Given the description of an element on the screen output the (x, y) to click on. 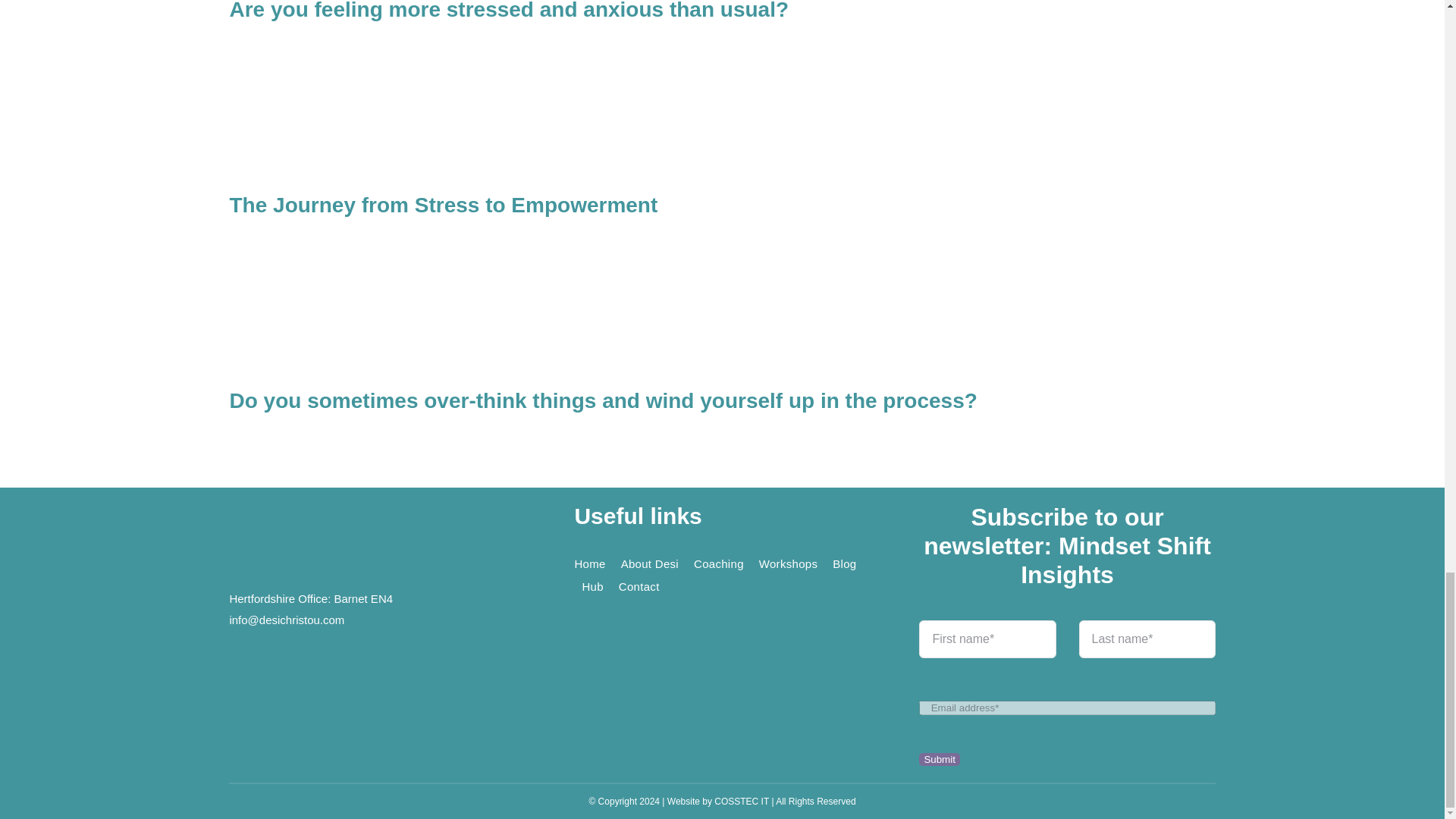
Submit (1066, 695)
